Given the description of an element on the screen output the (x, y) to click on. 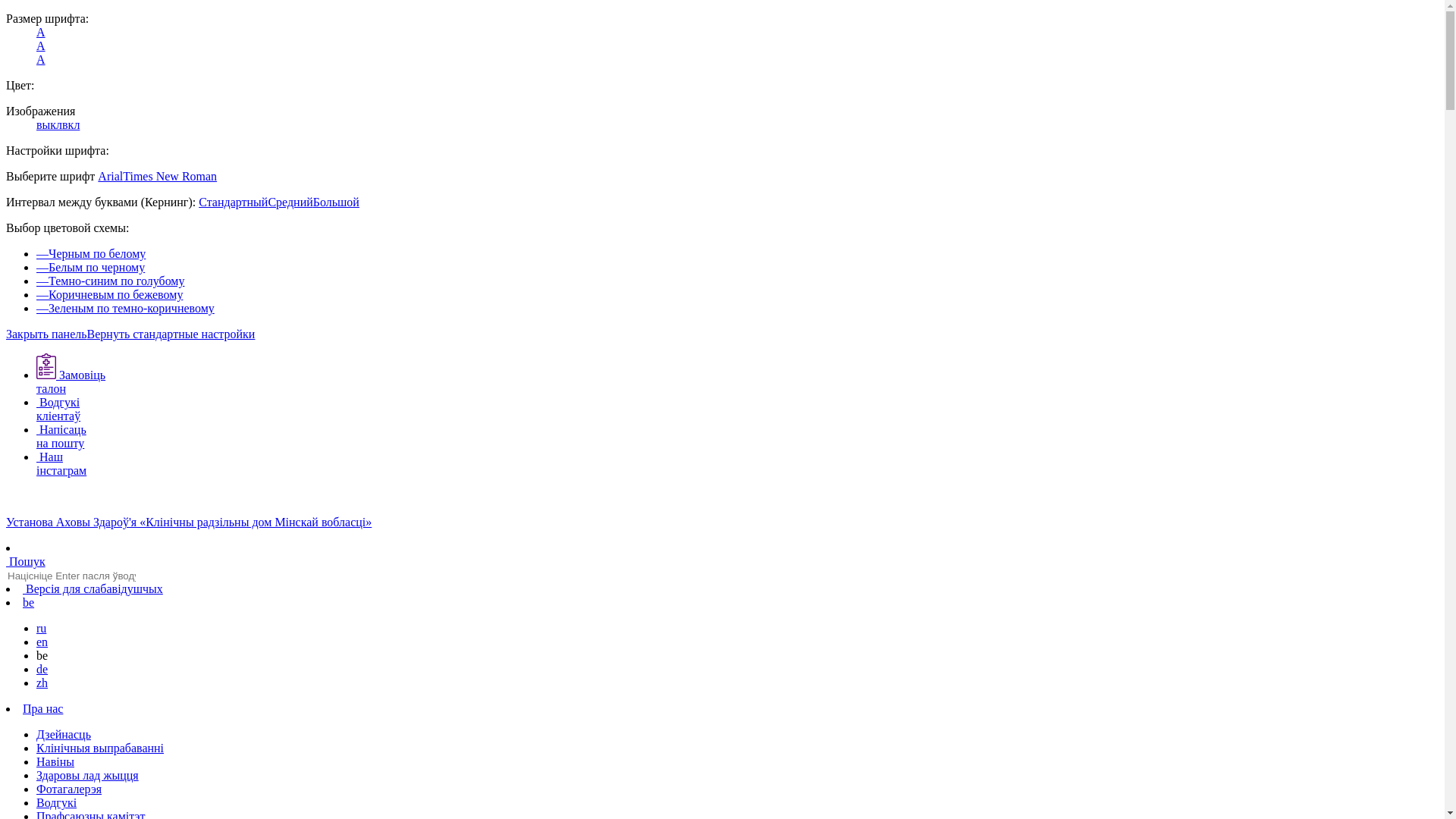
Arial Element type: text (109, 175)
be Element type: text (28, 602)
zh Element type: text (41, 682)
de Element type: text (41, 668)
en Element type: text (41, 641)
Times New Roman Element type: text (169, 175)
ru Element type: text (41, 627)
